Given the description of an element on the screen output the (x, y) to click on. 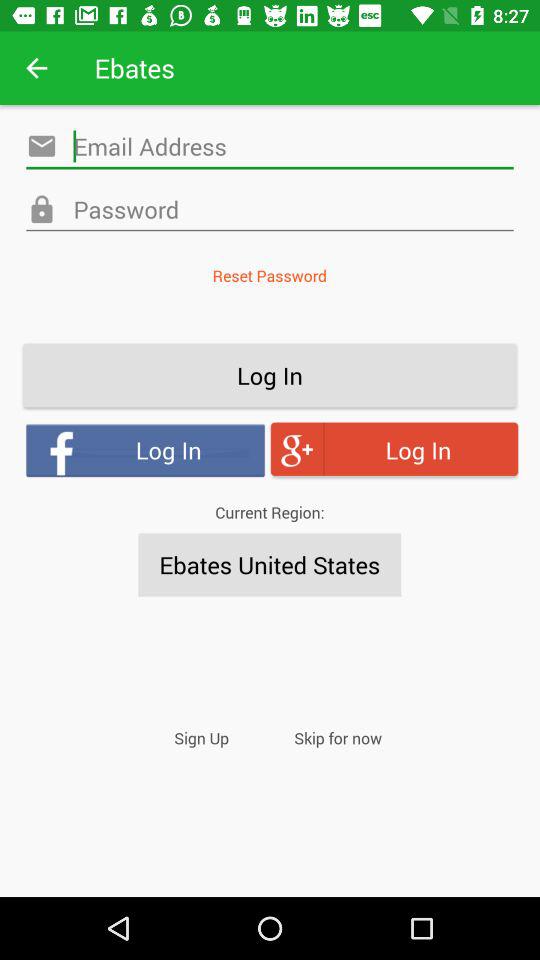
select the item next to skip for now (201, 737)
